Given the description of an element on the screen output the (x, y) to click on. 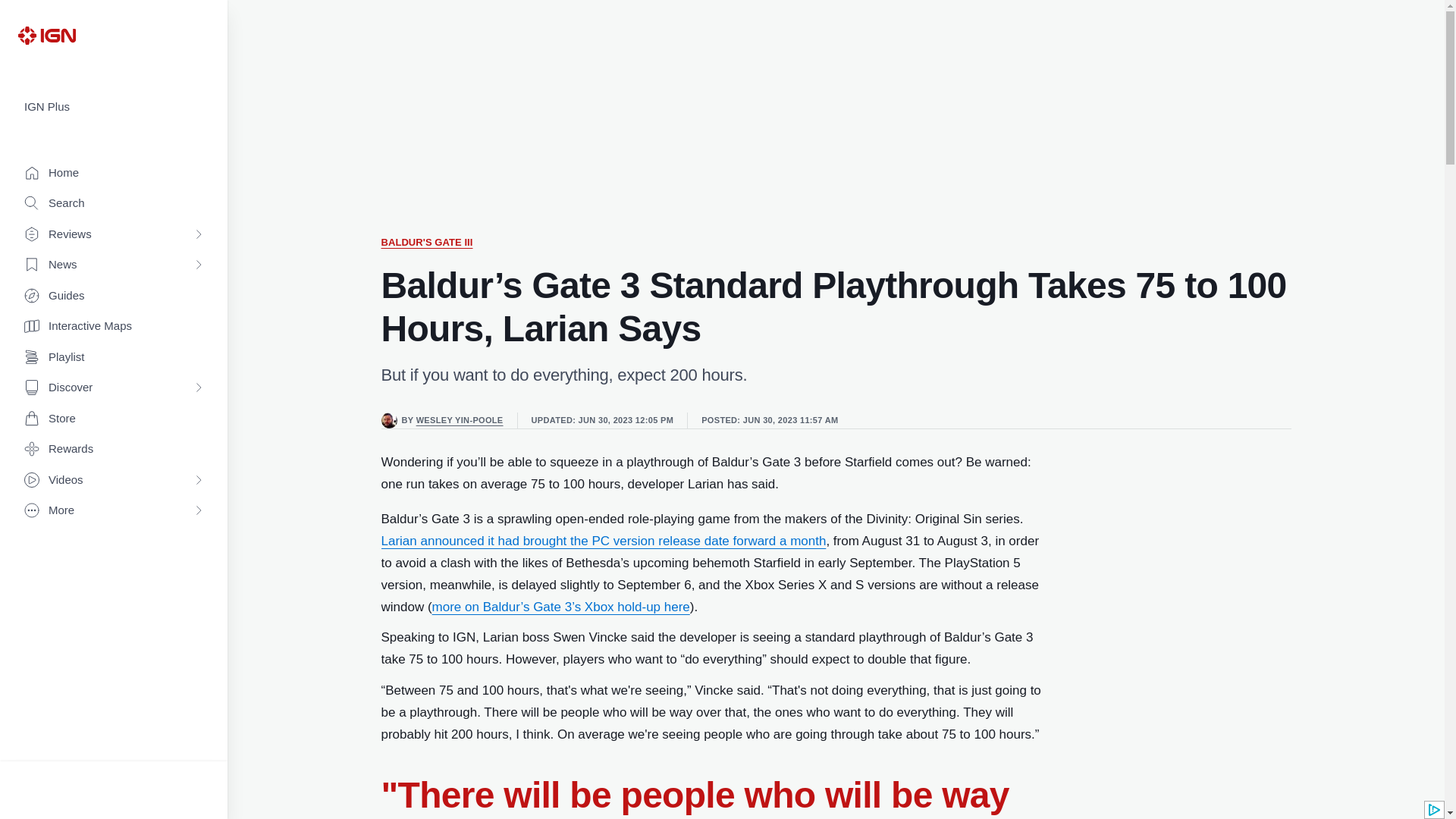
Playlist (113, 357)
Guides (113, 295)
IGN (46, 35)
Playlist (113, 357)
Search (113, 203)
IGN Logo (46, 34)
Search (113, 203)
Reviews (113, 234)
Interactive Maps (113, 326)
Guides (113, 295)
IGN Logo (46, 35)
Discover (113, 387)
Store (113, 418)
Interactive Maps (113, 326)
Rewards (113, 449)
